Given the description of an element on the screen output the (x, y) to click on. 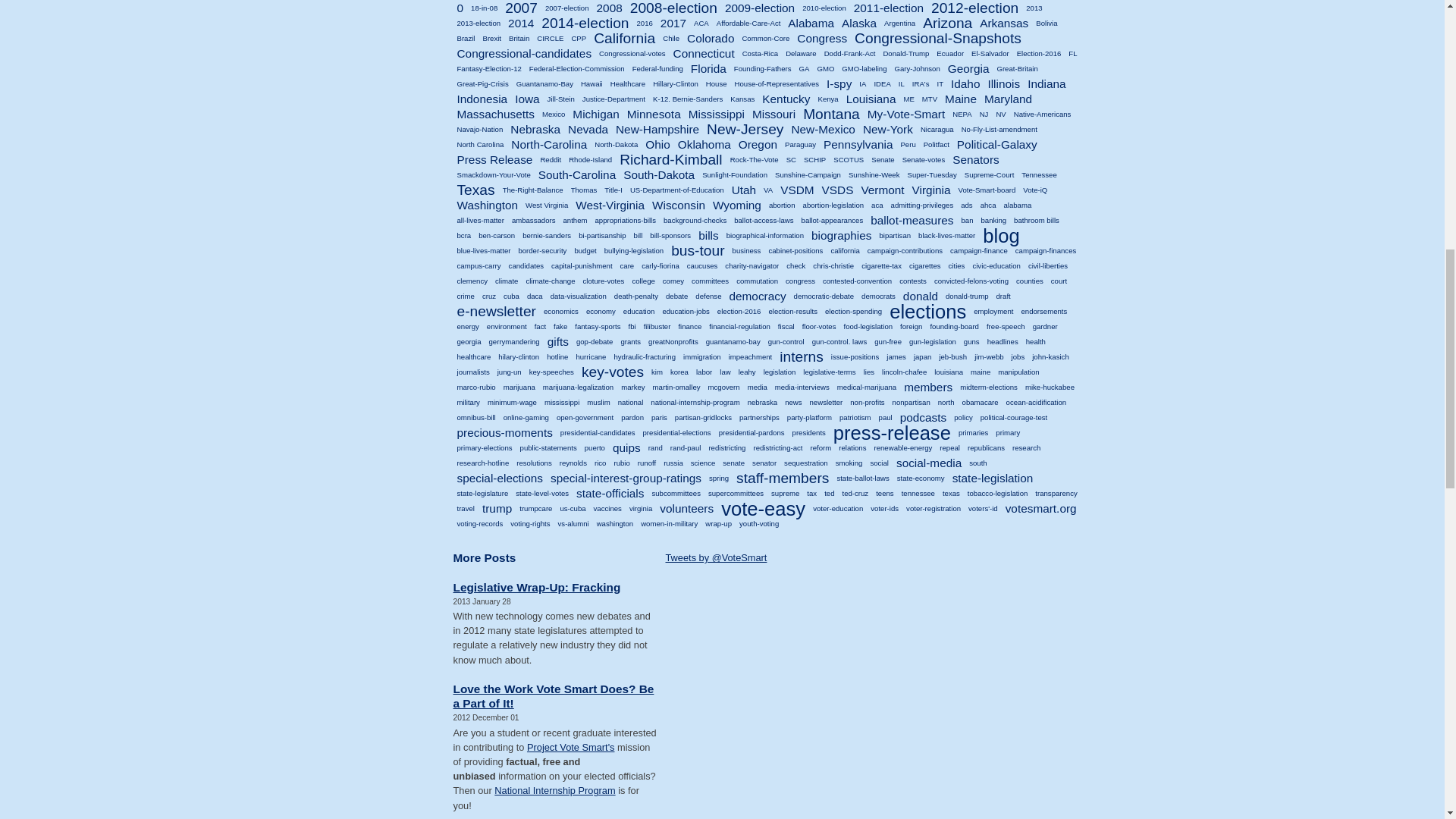
18-in-08 (483, 8)
View this post (536, 586)
View this post (552, 696)
2007 (521, 7)
2008 (609, 7)
2007-election (566, 8)
